Given the description of an element on the screen output the (x, y) to click on. 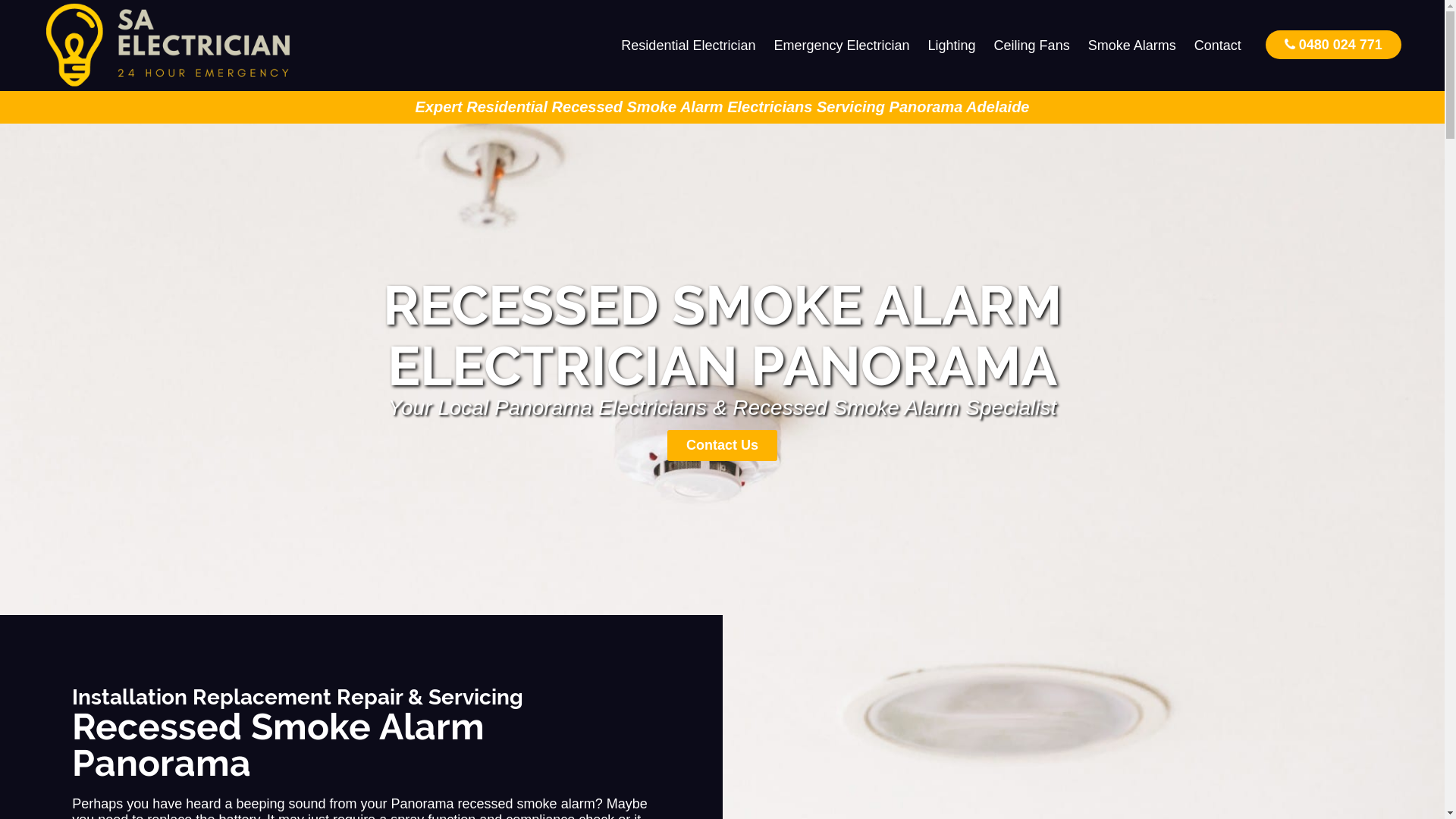
0480 024 771 Element type: text (1333, 44)
Contact Us Element type: text (722, 445)
Emergency Electrician Element type: text (841, 45)
Smoke Alarms Element type: text (1132, 45)
Contact Element type: text (1217, 45)
Ceiling Fans Element type: text (1032, 45)
Residential Electrician Element type: text (687, 45)
Lighting Element type: text (952, 45)
